Given the description of an element on the screen output the (x, y) to click on. 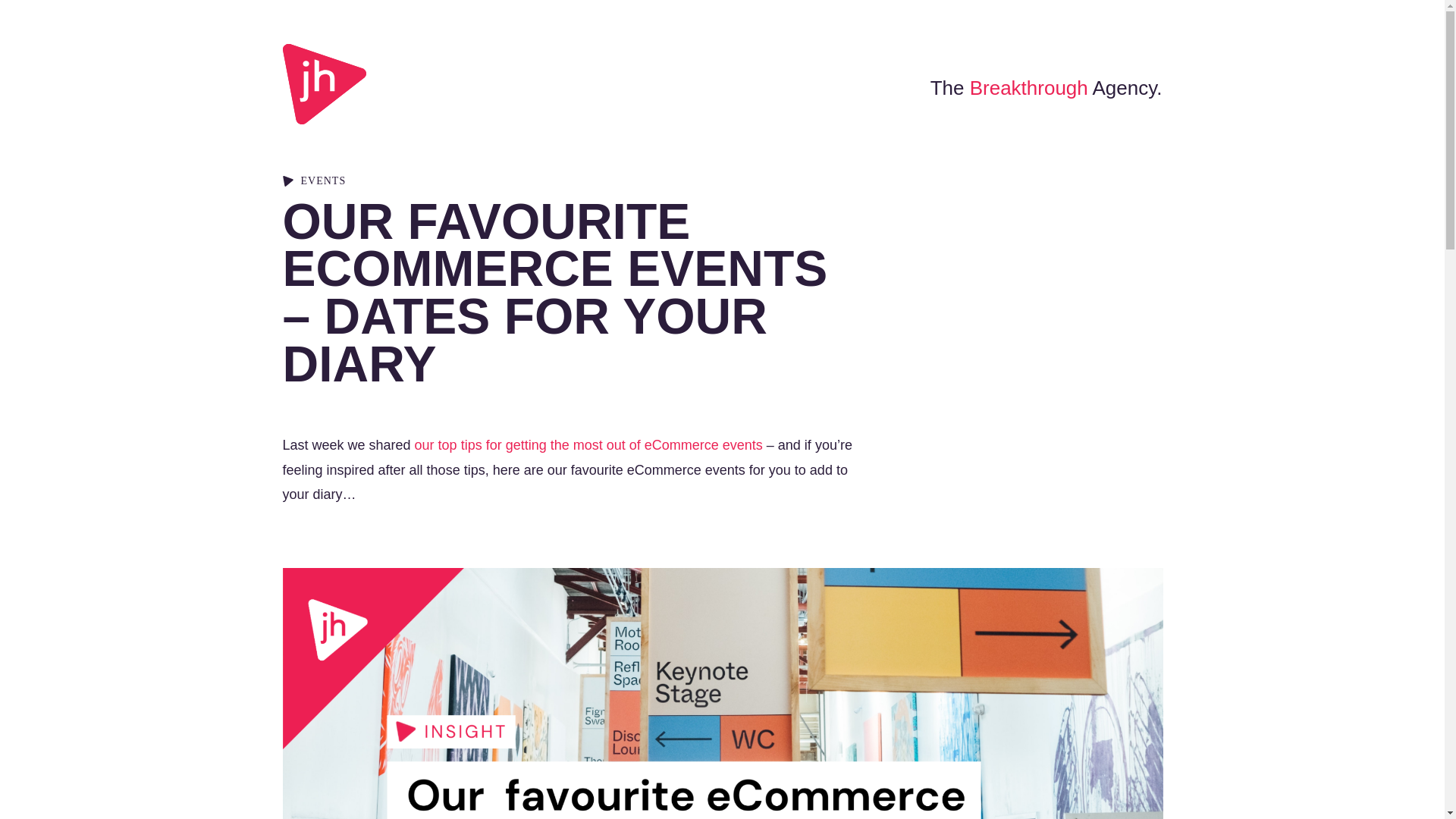
EVENTS (322, 180)
our top tips for getting the most out of eCommerce events (588, 444)
